Given the description of an element on the screen output the (x, y) to click on. 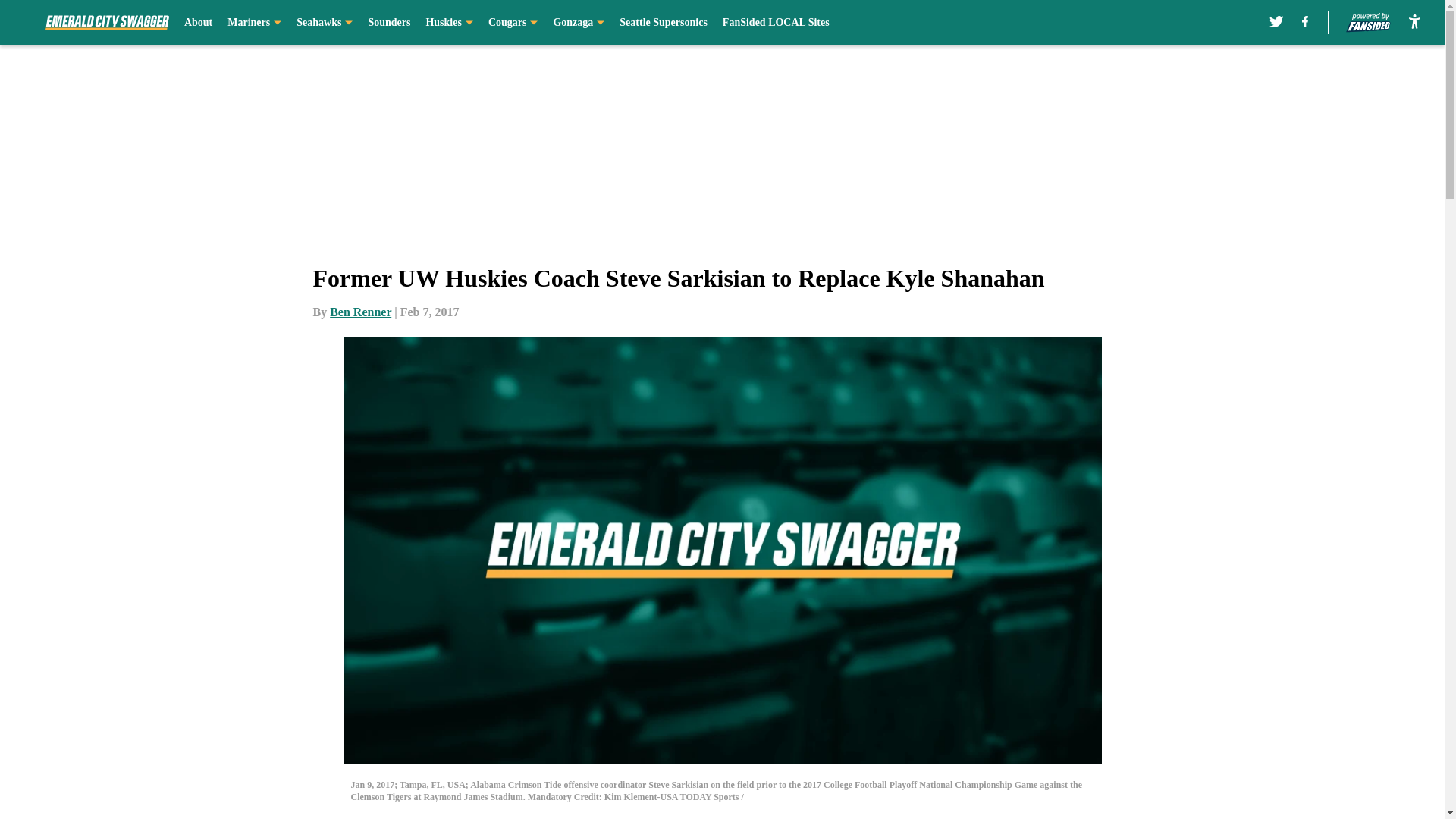
Seattle Supersonics (663, 22)
FanSided LOCAL Sites (775, 22)
About (198, 22)
Ben Renner (360, 311)
Sounders (389, 22)
